Given the description of an element on the screen output the (x, y) to click on. 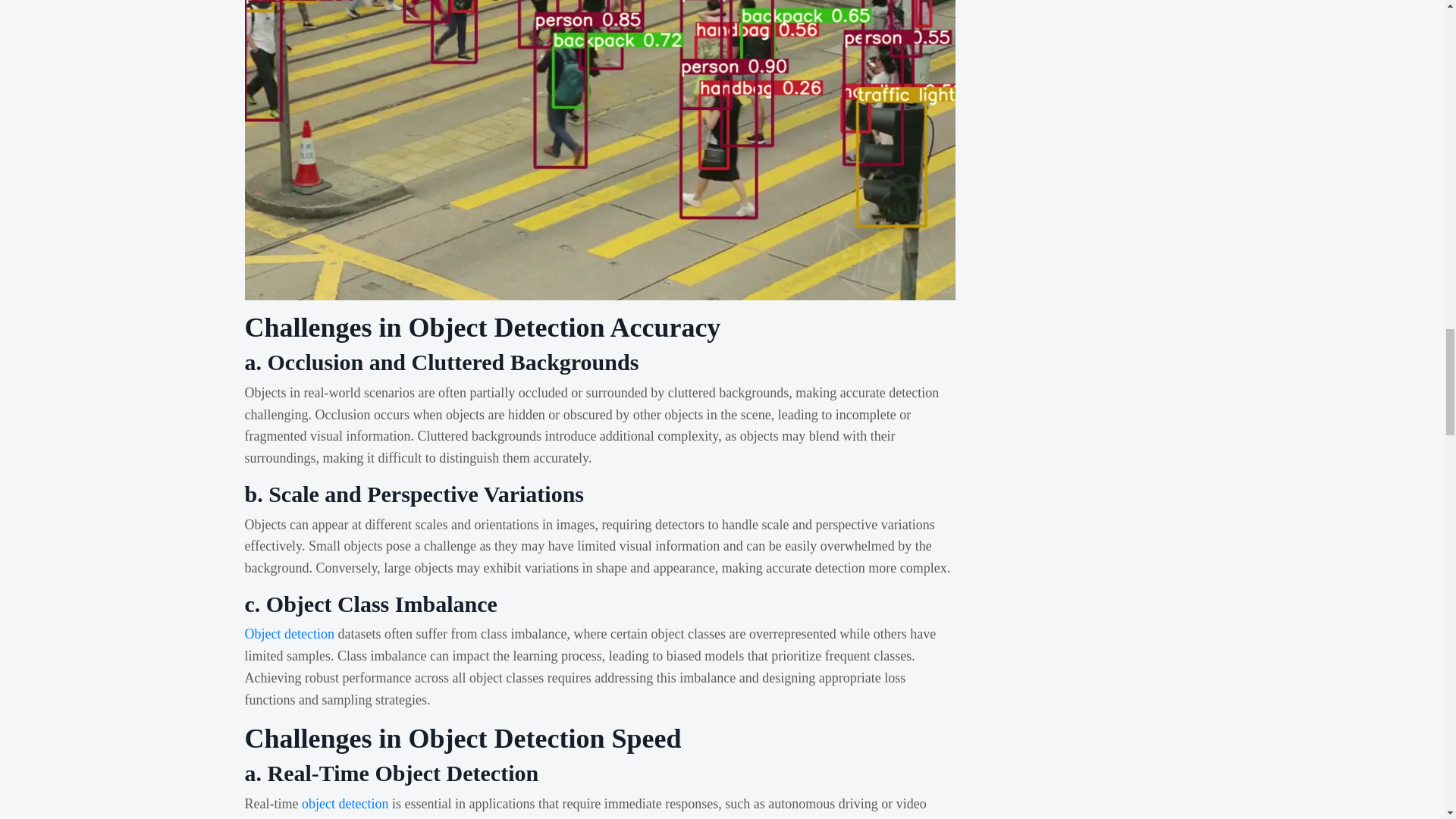
object detection (344, 803)
Object detection (288, 633)
